Given the description of an element on the screen output the (x, y) to click on. 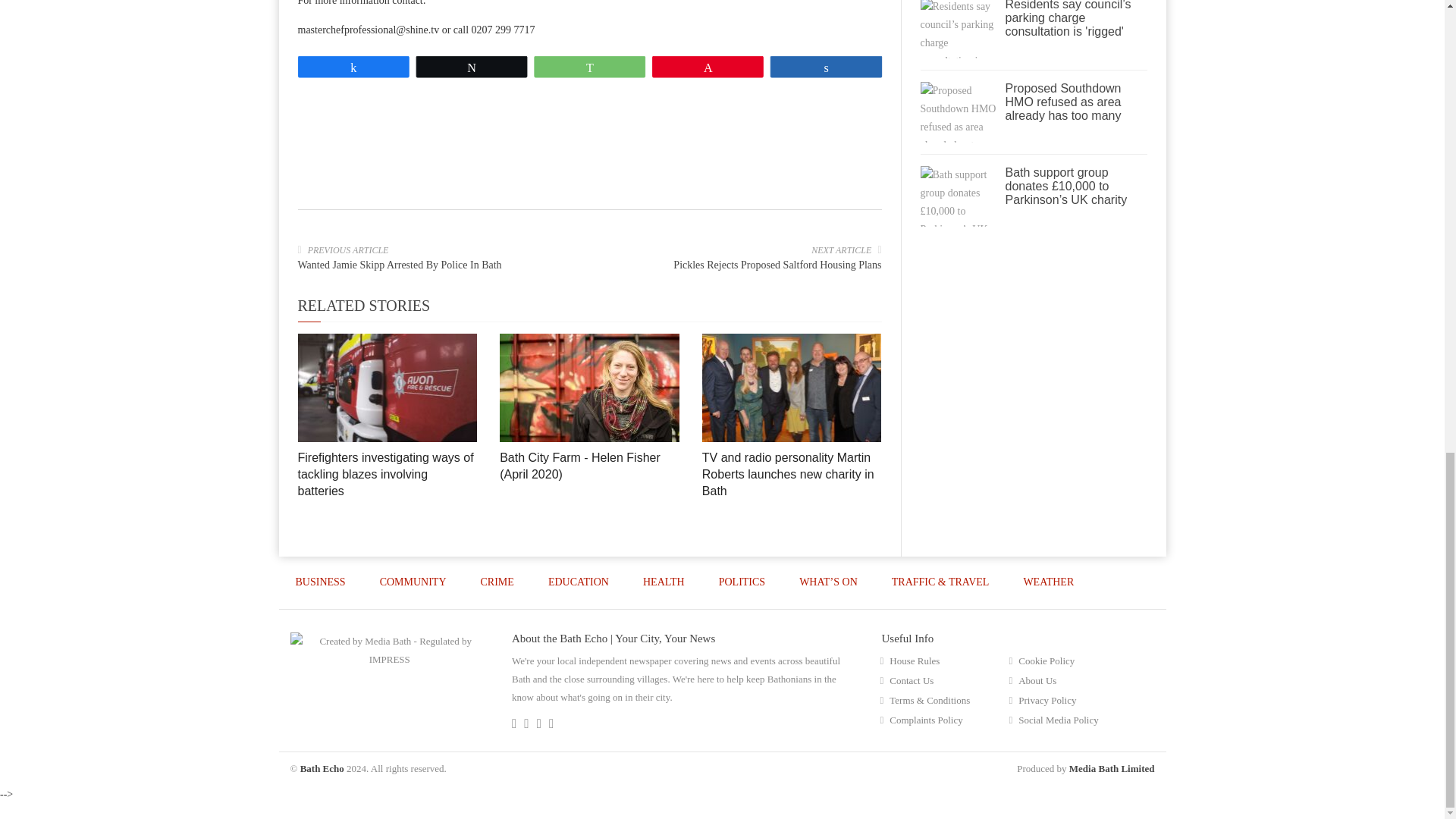
Wanted Jamie Skipp Arrested By Police In Bath (398, 265)
BACK TO TOP (1113, 634)
Pickles Rejects Proposed Saltford Housing Plans (776, 265)
